Given the description of an element on the screen output the (x, y) to click on. 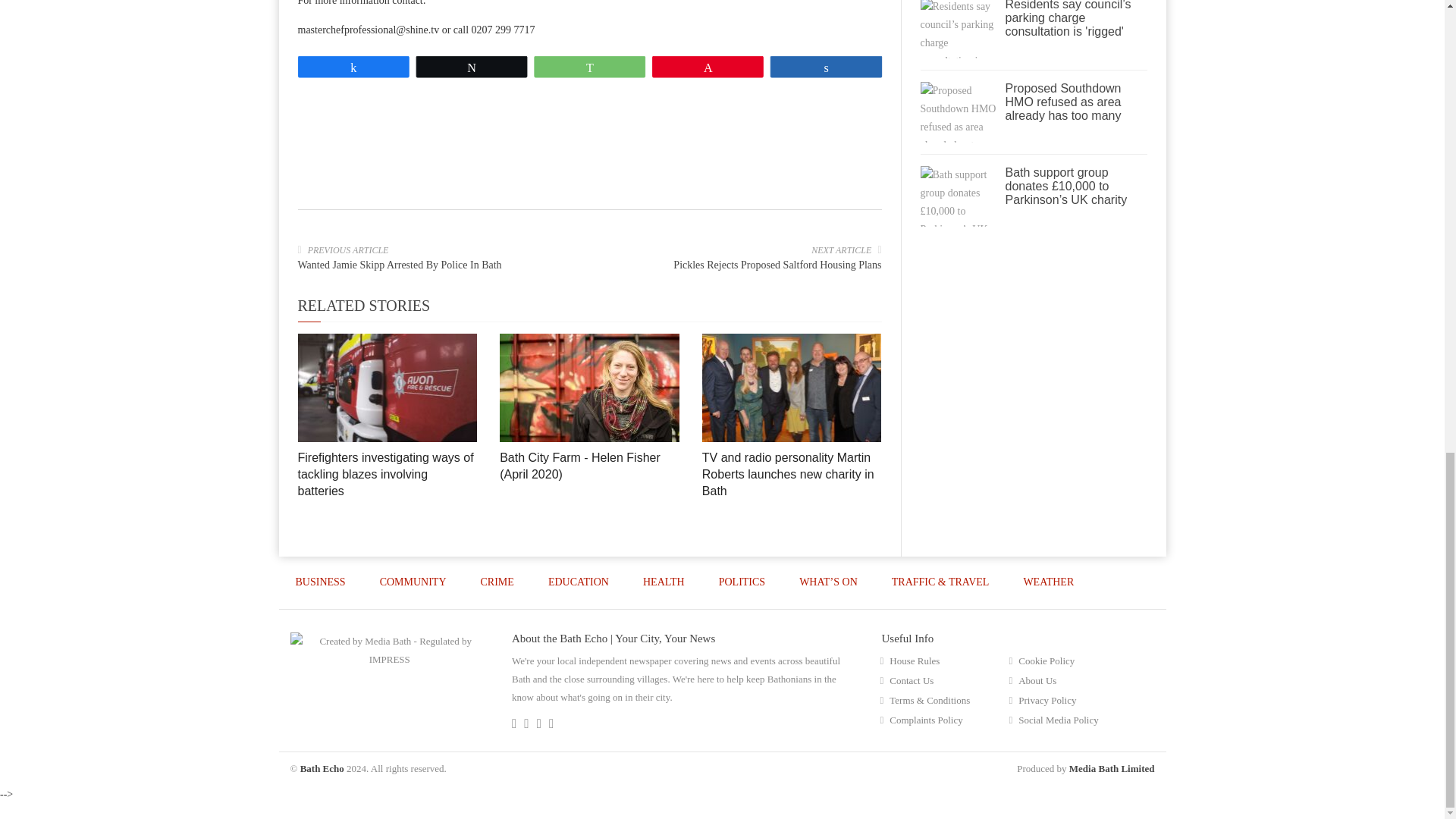
Wanted Jamie Skipp Arrested By Police In Bath (398, 265)
BACK TO TOP (1113, 634)
Pickles Rejects Proposed Saltford Housing Plans (776, 265)
